Given the description of an element on the screen output the (x, y) to click on. 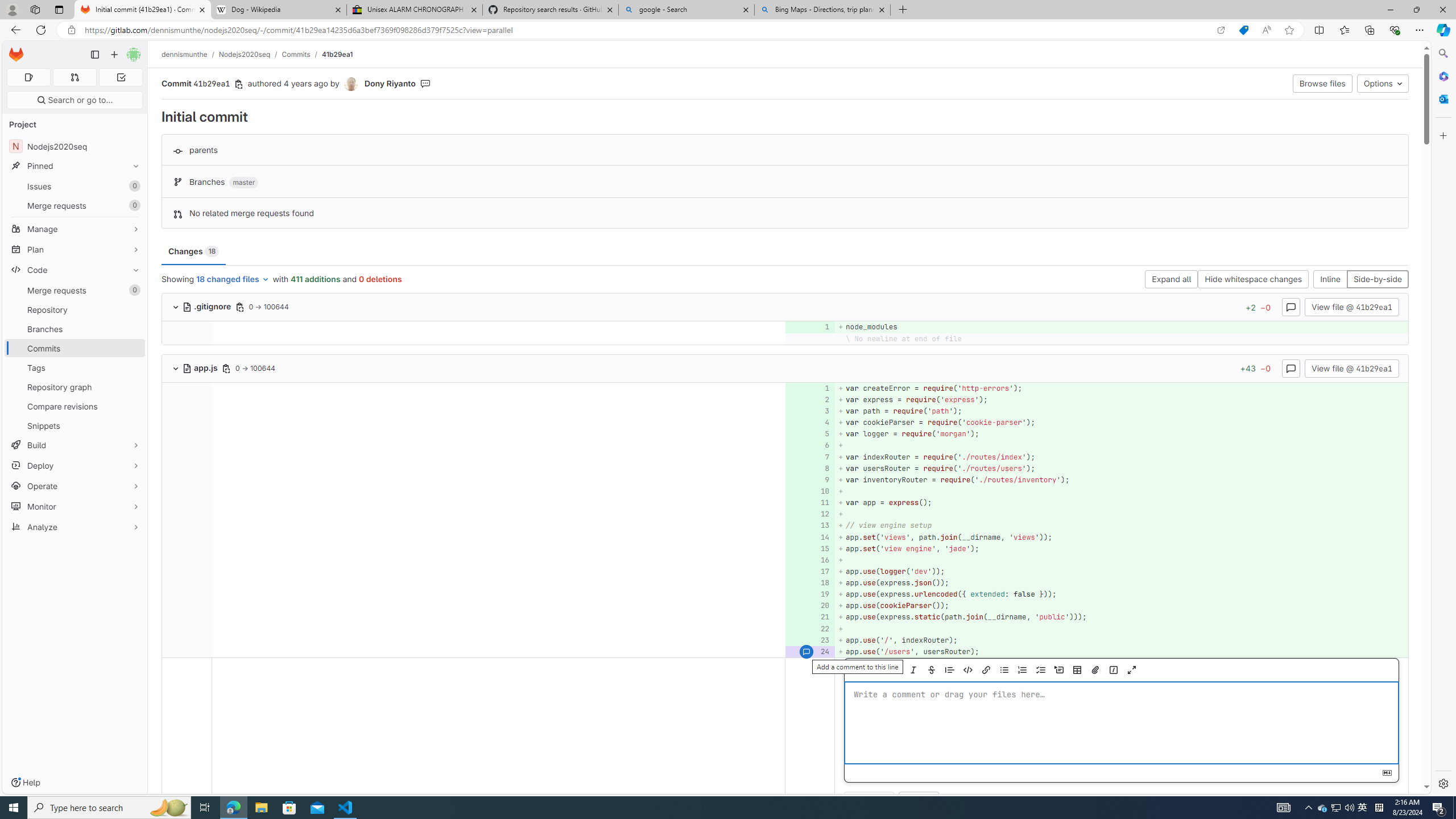
N Nodejs2020seq (74, 145)
41b29ea1 (337, 53)
Deploy (74, 465)
Dony Riyanto (390, 83)
18 changed files (233, 279)
Class: notes_line old (186, 737)
Add a comment to this line 4 (809, 422)
17 (808, 571)
Commits (74, 348)
Expand all (1171, 279)
Class: s16 chevron-down (175, 368)
